Given the description of an element on the screen output the (x, y) to click on. 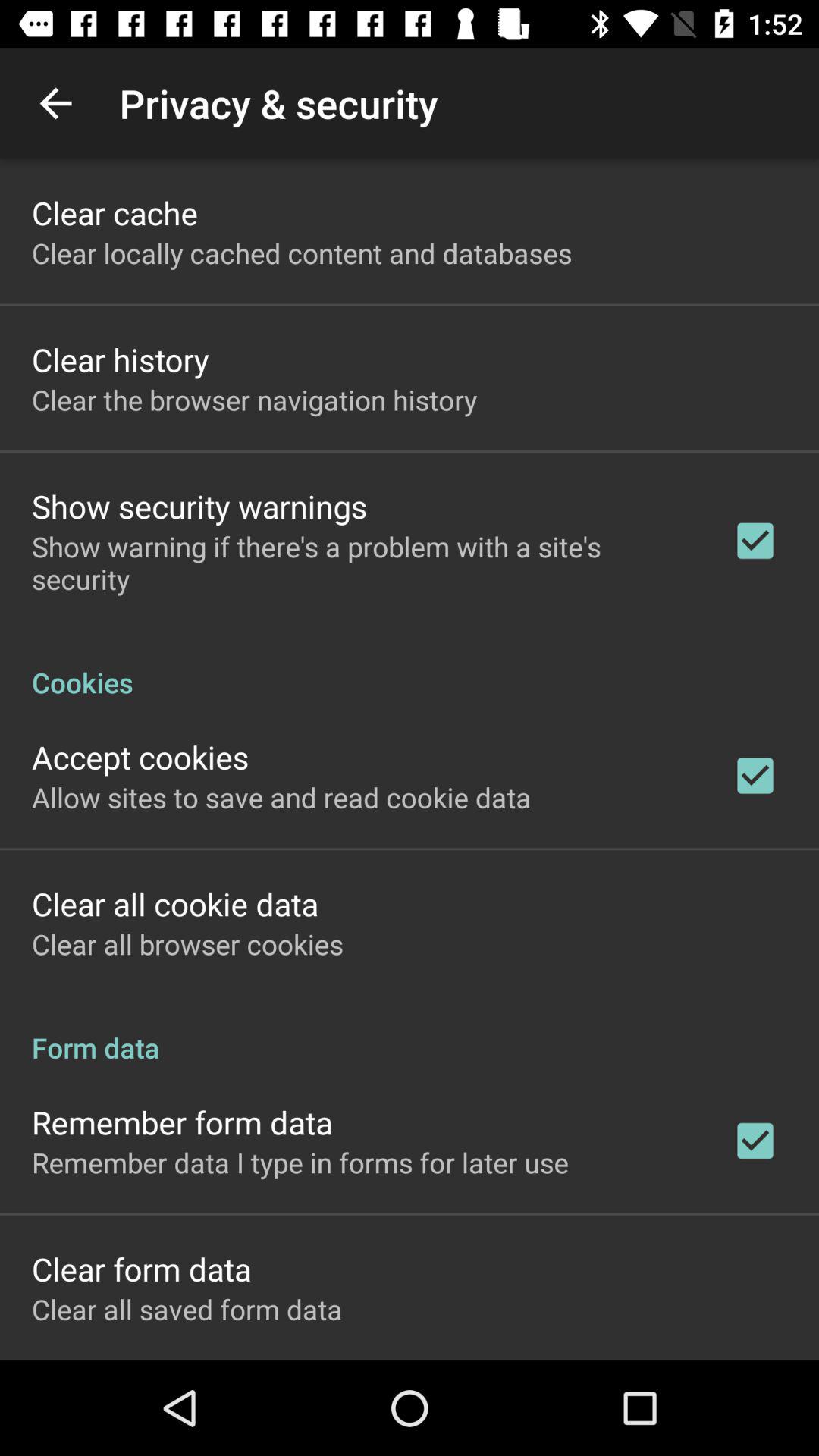
flip until clear locally cached icon (301, 252)
